Given the description of an element on the screen output the (x, y) to click on. 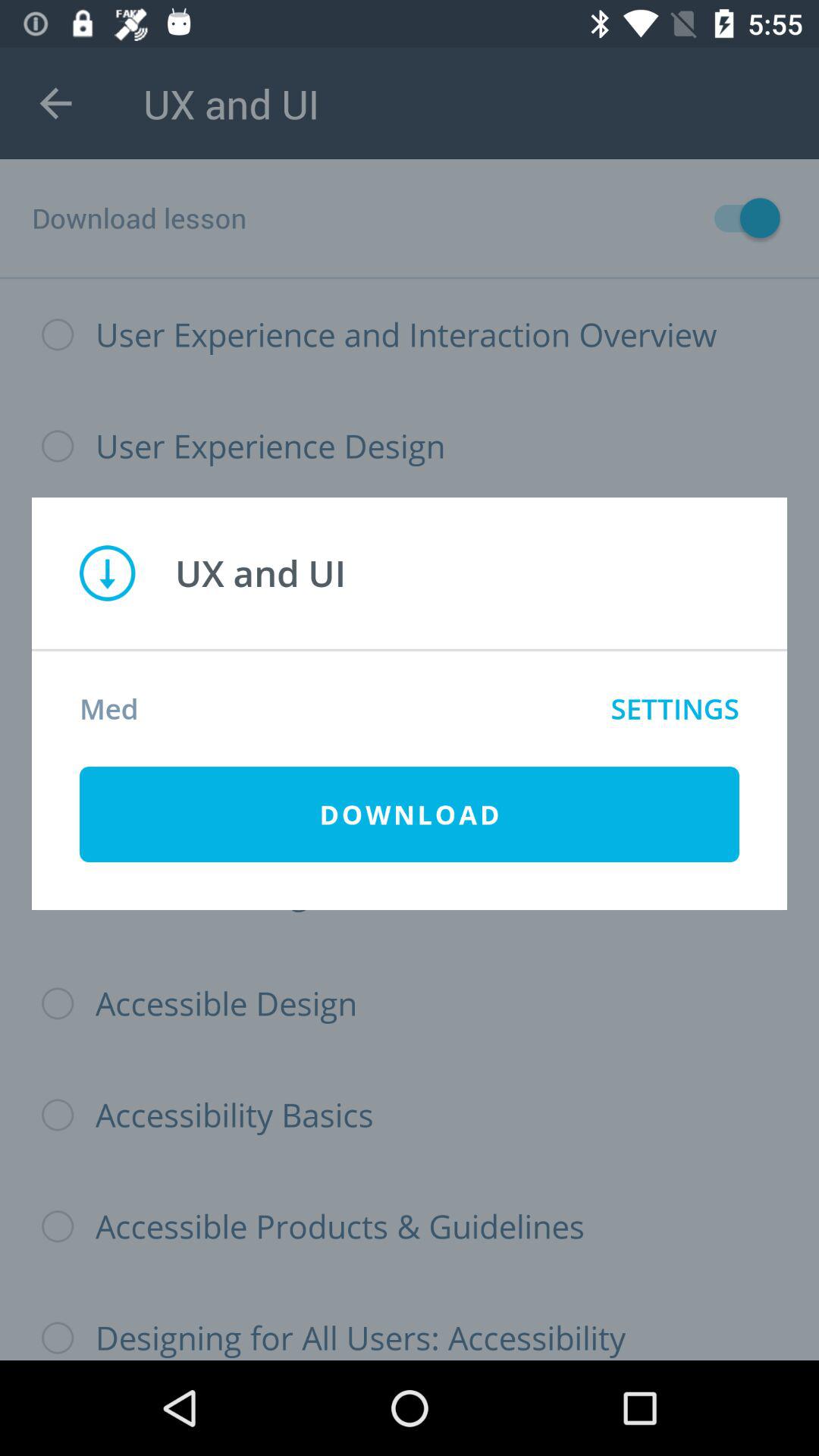
press the icon above the download (674, 708)
